Given the description of an element on the screen output the (x, y) to click on. 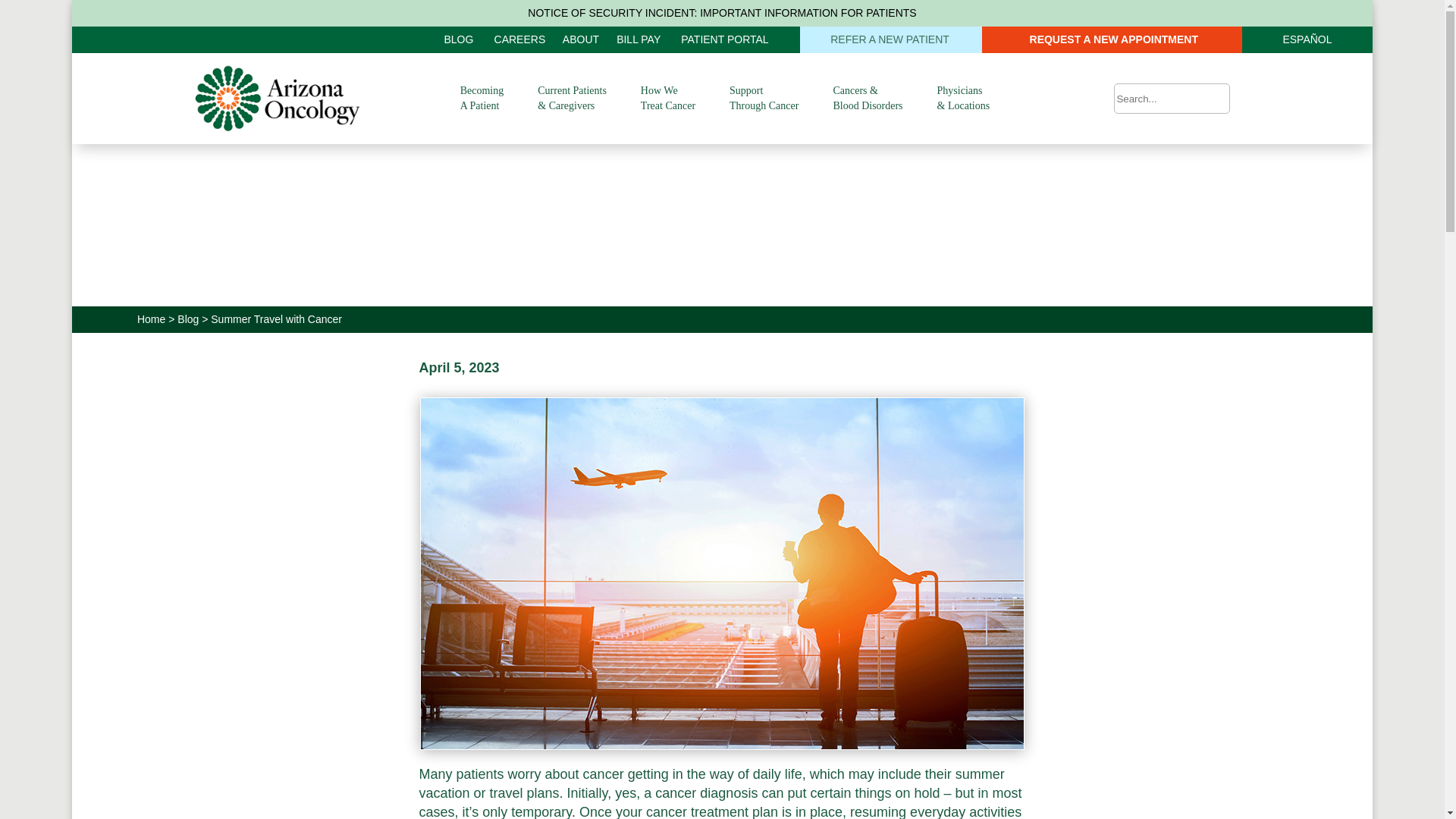
ABOUT (580, 39)
ABOUT (580, 39)
BILL PAY (638, 39)
CAREERS (520, 39)
PATIENT PORTAL (724, 39)
REFER A NEW PATIENT  (890, 39)
BLOG  (460, 39)
Bill PAY (638, 39)
 REQUEST A NEW APPOINTMENT (1112, 39)
